Given the description of an element on the screen output the (x, y) to click on. 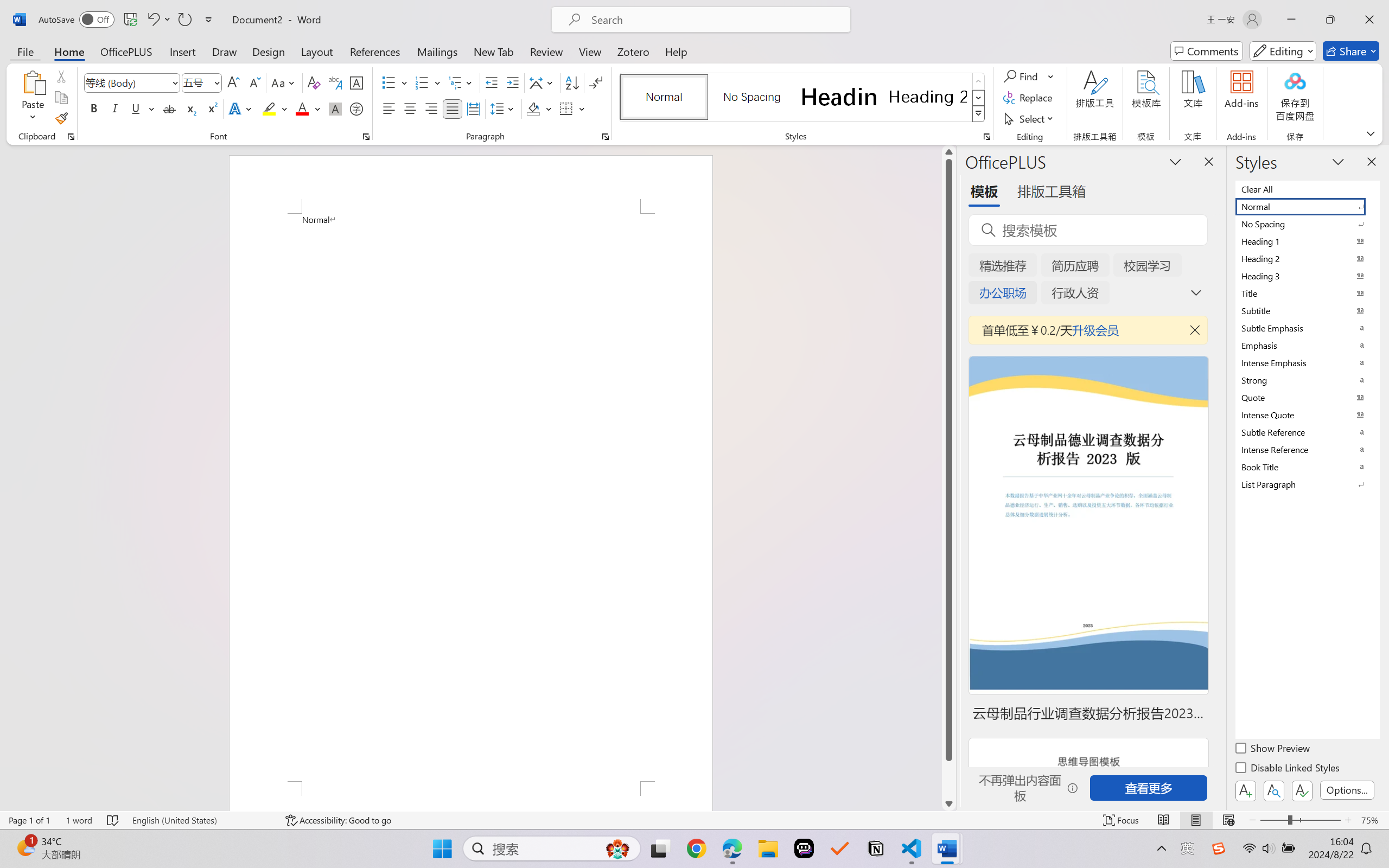
Insert (182, 51)
Font Size (196, 82)
Align Left (388, 108)
Underline (135, 108)
Intense Quote (1306, 414)
Paragraph... (605, 136)
Save (130, 19)
Enclose Characters... (356, 108)
Multilevel List (461, 82)
Layout (316, 51)
Mode (1283, 50)
Class: NetUIScrollBar (948, 477)
